Given the description of an element on the screen output the (x, y) to click on. 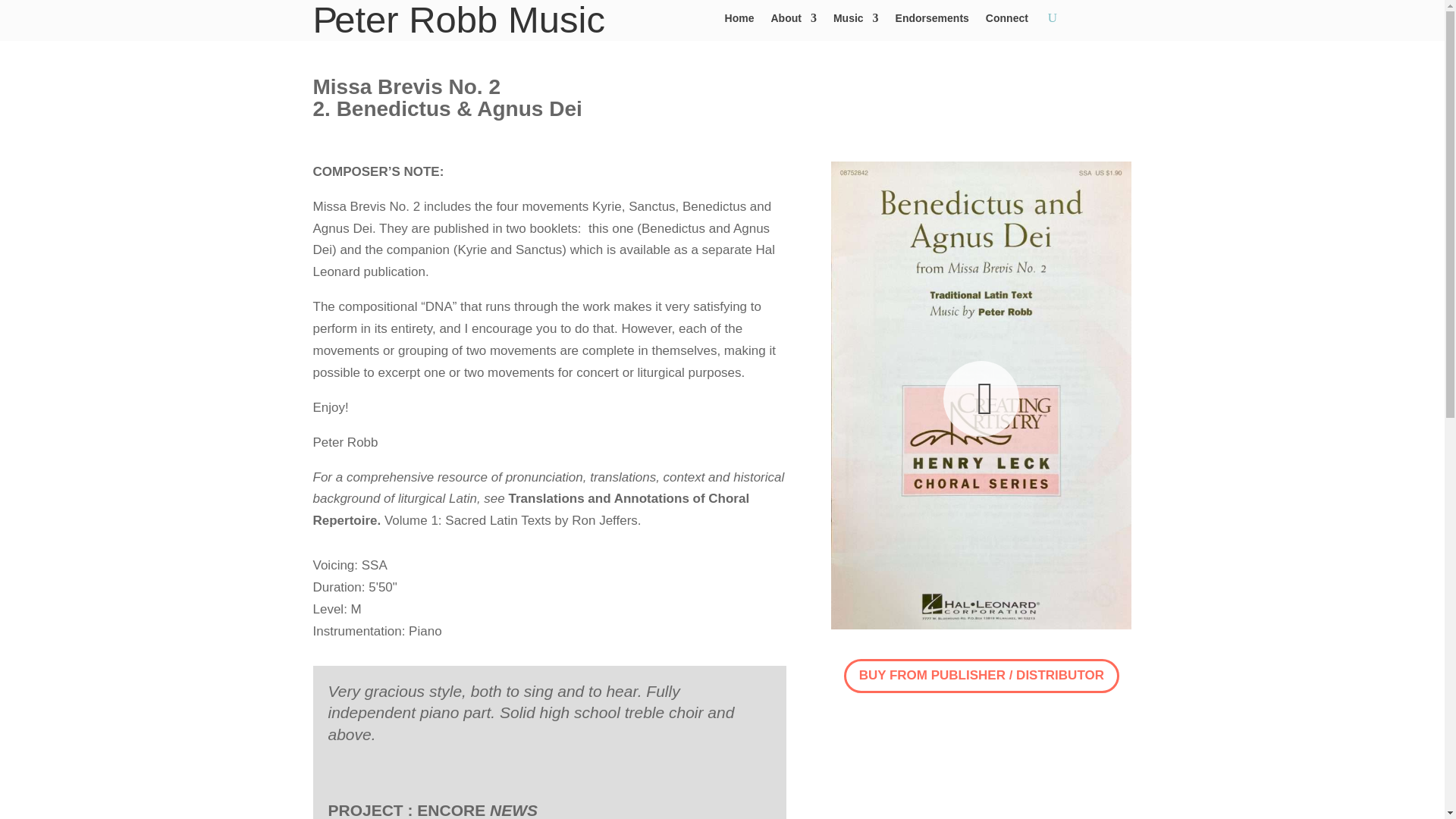
Endorsements (932, 21)
About (792, 21)
Home (739, 21)
Music (855, 21)
Connect (1006, 21)
